Given the description of an element on the screen output the (x, y) to click on. 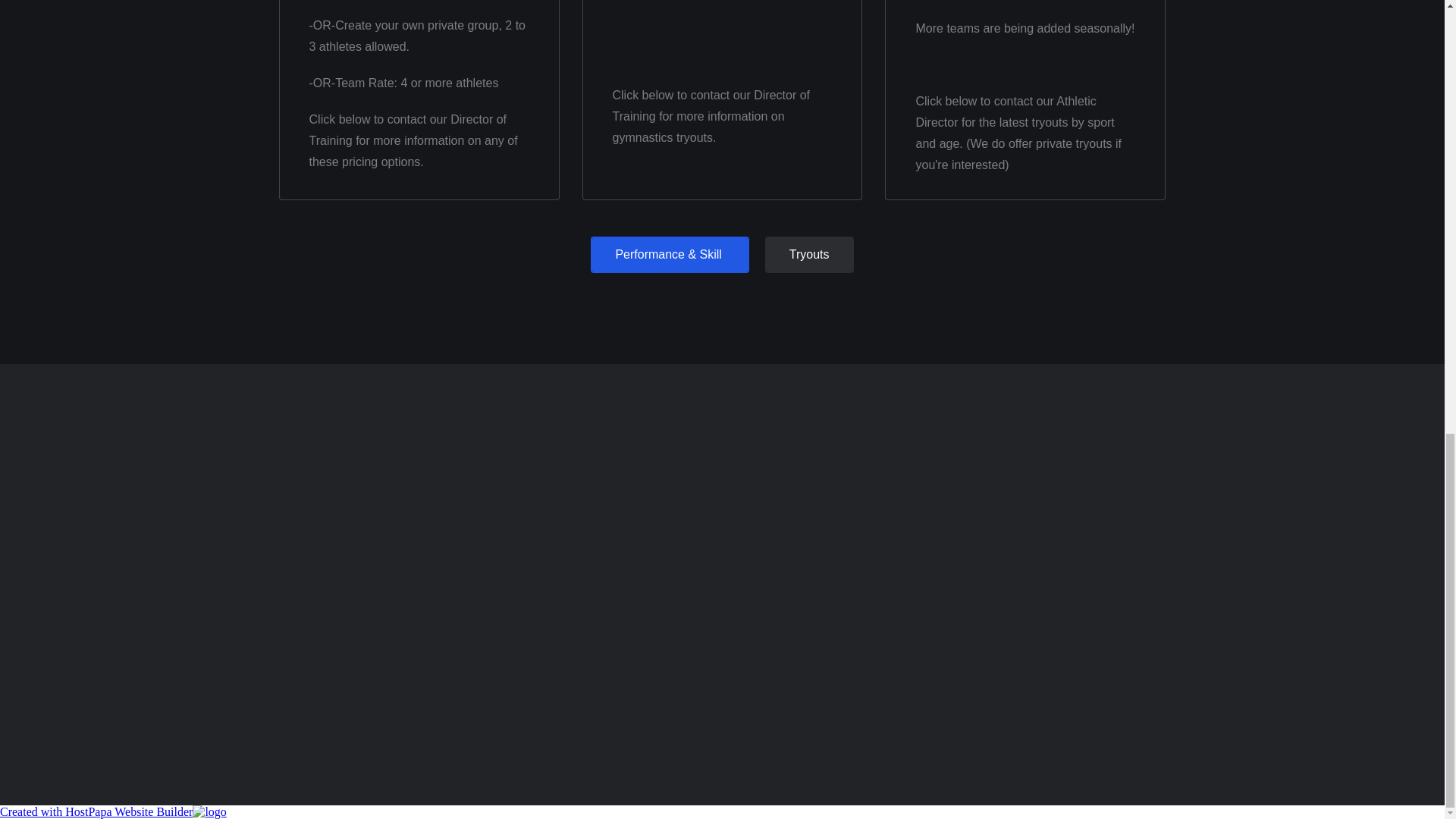
Tryouts (809, 254)
